Given the description of an element on the screen output the (x, y) to click on. 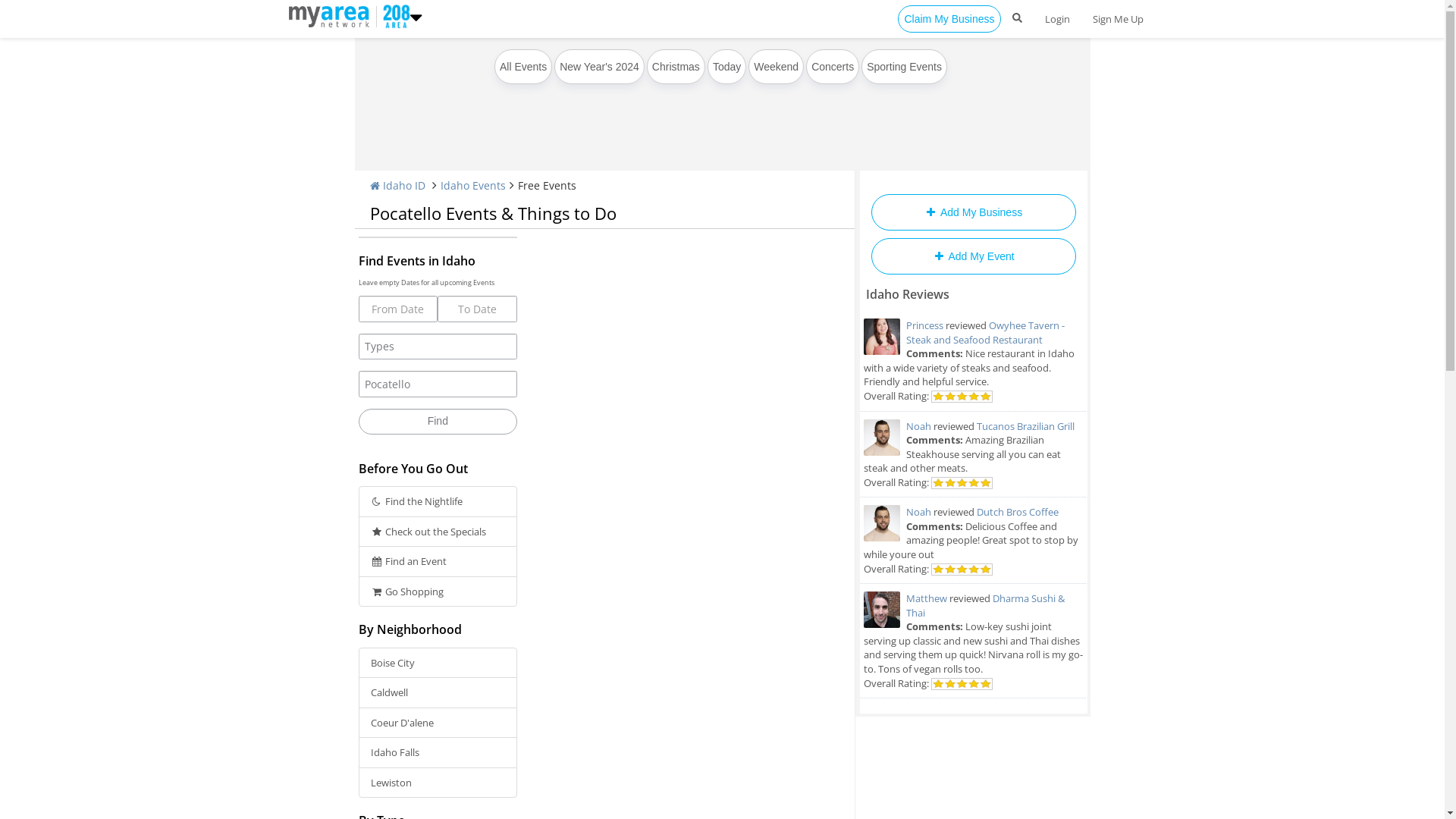
Noah Element type: text (917, 426)
Matthew Element type: text (925, 598)
Dutch Bros Coffee Element type: text (1017, 511)
Sporting Events Element type: text (904, 66)
Owyhee Tavern - Steak and Seafood Restaurant Element type: text (984, 332)
All Events Element type: text (523, 66)
Boise City Element type: text (437, 662)
Noah Element type: text (917, 511)
Christmas Element type: text (675, 66)
Princess Element type: text (923, 325)
Lewiston Element type: text (437, 782)
Caldwell Element type: text (437, 692)
https://www.208area.com Element type: hover (392, 15)
Find the Nightlife Element type: text (437, 501)
https://www.208area.com Element type: hover (332, 15)
Concerts Element type: text (832, 66)
Idaho Reviews Element type: text (907, 293)
Add My Event Element type: text (972, 256)
Idaho Events Element type: text (472, 185)
Weekend Element type: text (775, 66)
Idaho ID Element type: text (397, 185)
Idaho Falls Element type: text (437, 752)
Go Shopping Element type: text (437, 591)
Check out the Specials Element type: text (437, 531)
Add My Business Element type: text (972, 212)
New Year's 2024 Element type: text (599, 66)
Find Element type: text (437, 421)
Find an Event Element type: text (437, 561)
Tucanos Brazilian Grill Element type: text (1025, 426)
Login Element type: text (1056, 18)
Coeur D'alene Element type: text (437, 722)
Sign Me Up Element type: text (1117, 18)
Dharma Sushi & Thai Element type: text (984, 605)
Claim My Business Element type: text (948, 18)
Today Element type: text (726, 66)
